Given the description of an element on the screen output the (x, y) to click on. 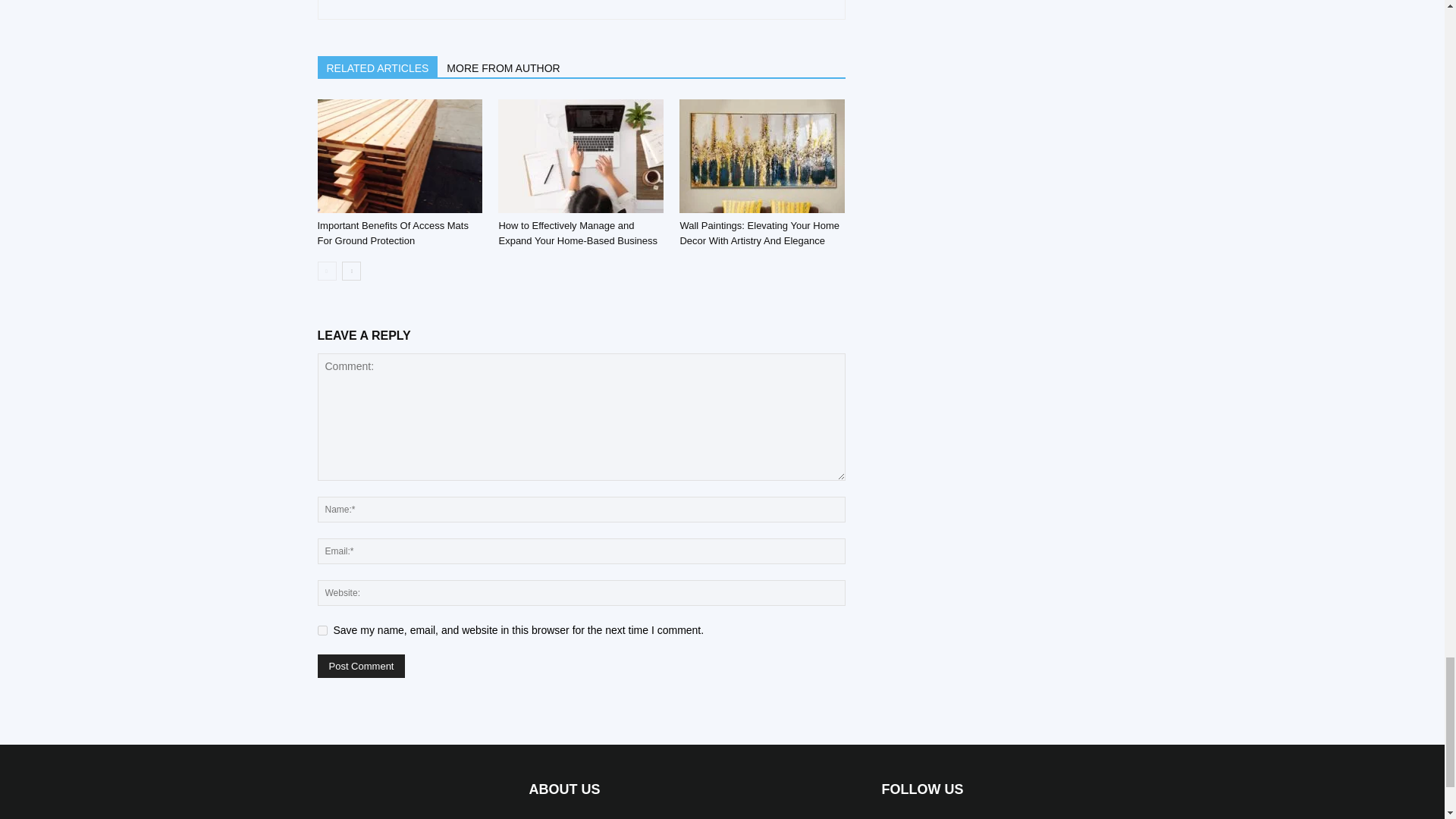
Post Comment (360, 666)
yes (321, 630)
